Given the description of an element on the screen output the (x, y) to click on. 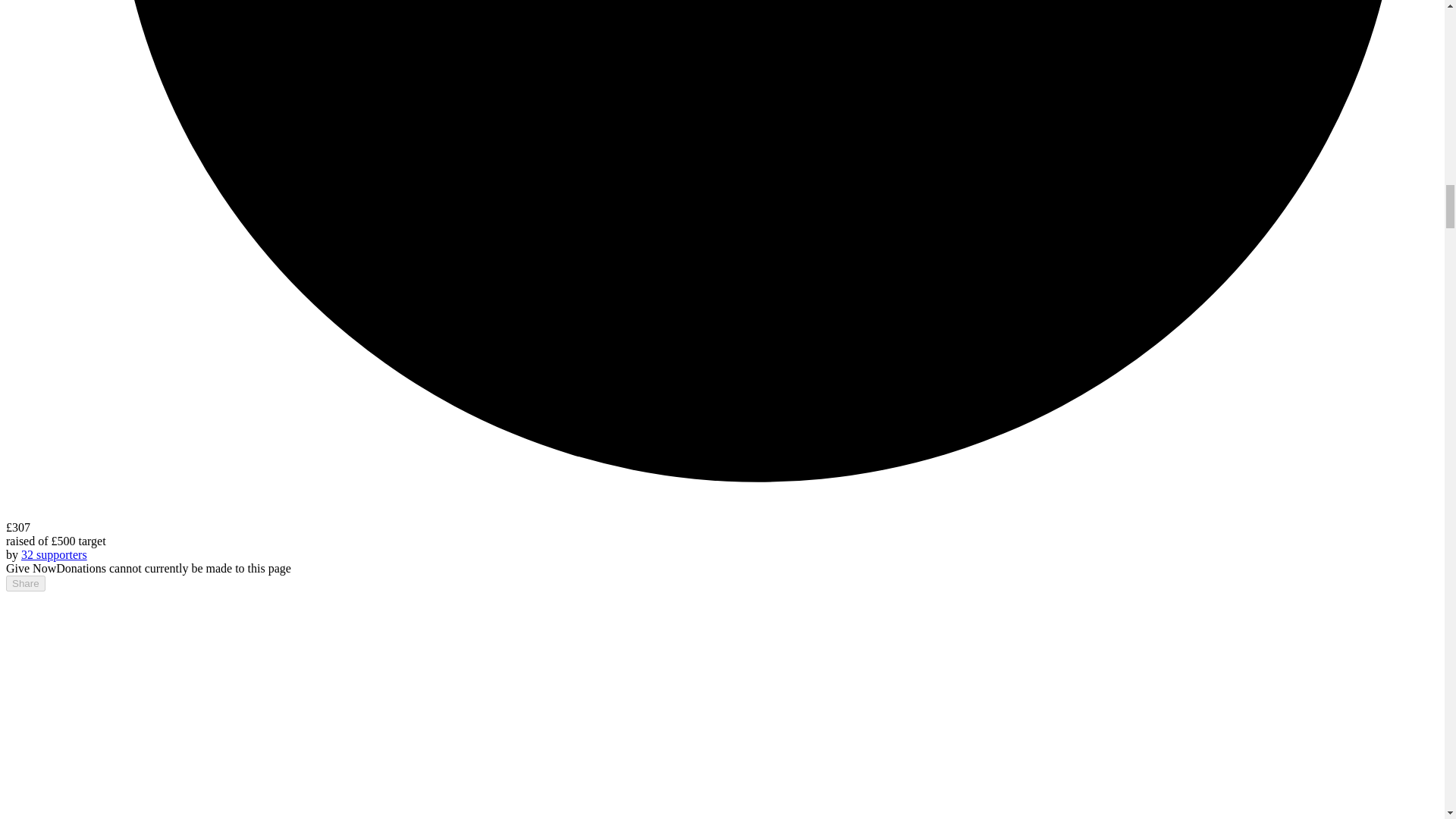
32 supporters (54, 554)
Share (25, 583)
